Given the description of an element on the screen output the (x, y) to click on. 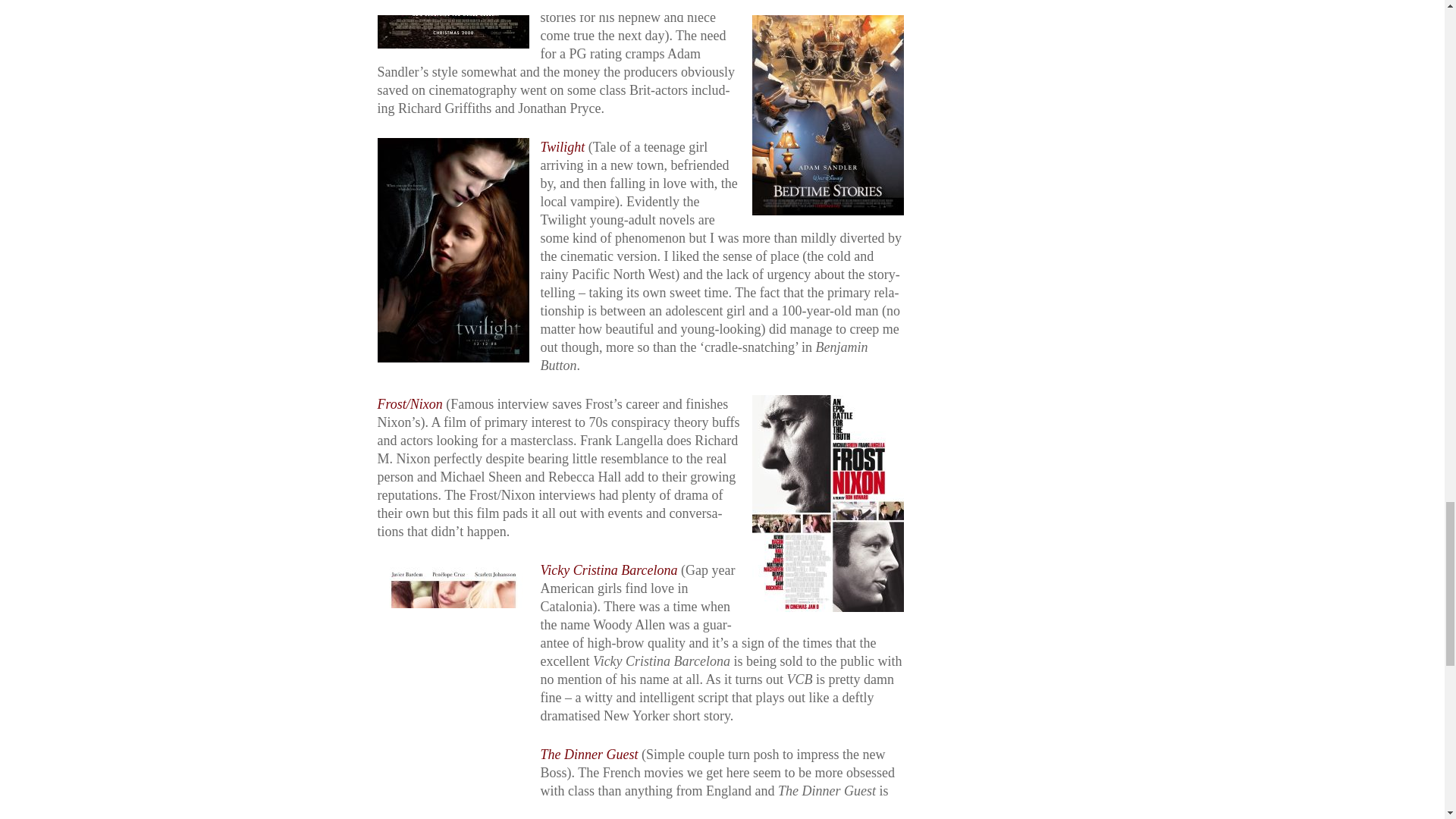
Bedtime Stories (583, 3)
Bedtime Stories official site (583, 3)
Vicky Cristina Barcelona (608, 570)
Twilight official site (562, 146)
Twilight (562, 146)
Vicky Cristina Barcelona official site (608, 570)
The Dinner Guest (588, 754)
